Given the description of an element on the screen output the (x, y) to click on. 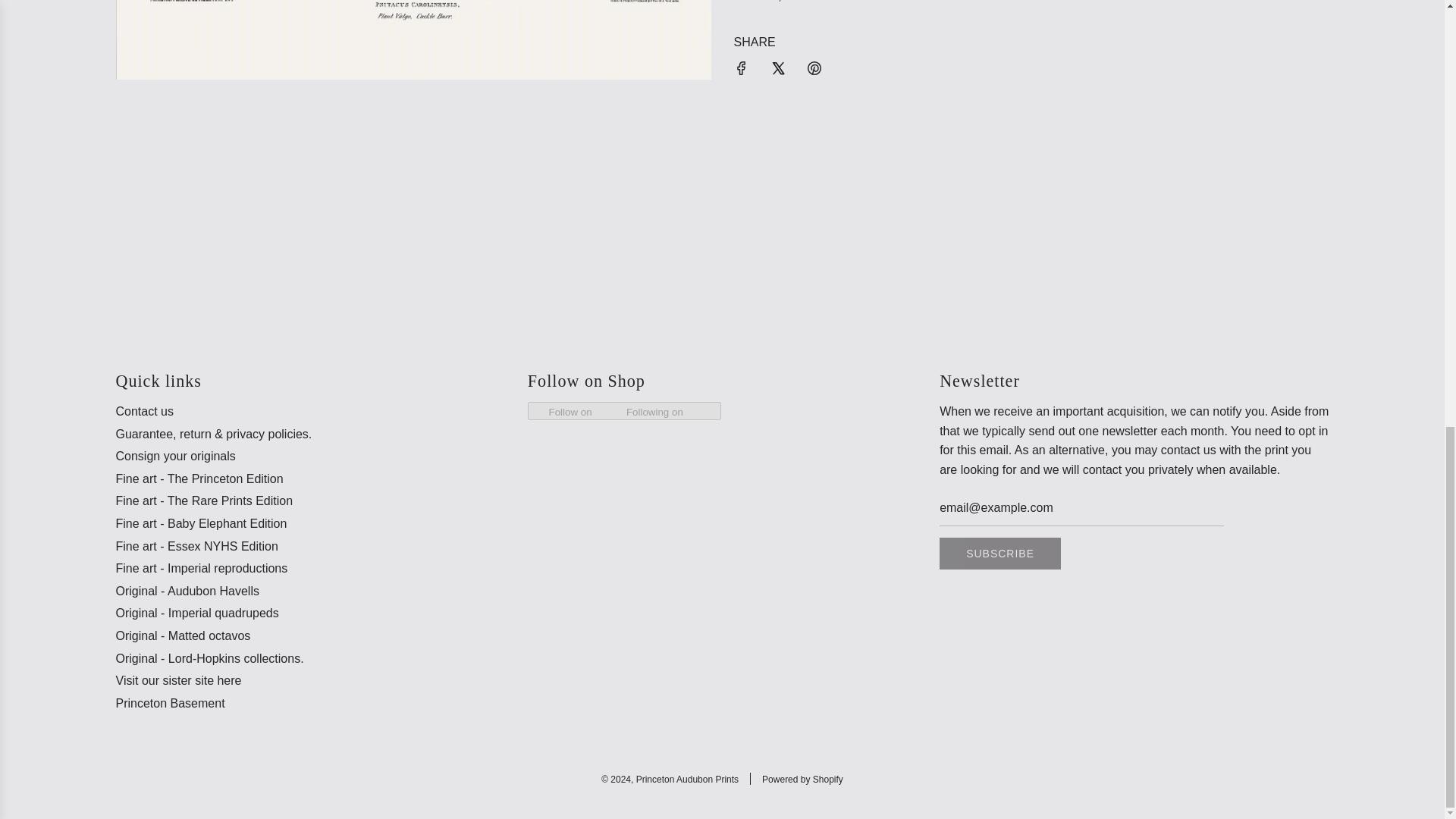
Contact us (144, 410)
Consign your originals (174, 455)
